Given the description of an element on the screen output the (x, y) to click on. 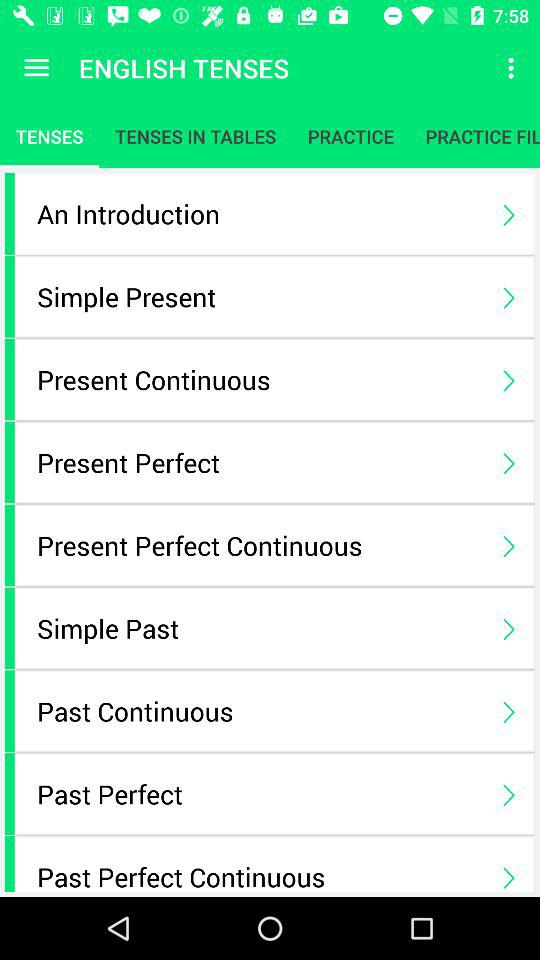
choose the item next to english tenses item (513, 67)
